Given the description of an element on the screen output the (x, y) to click on. 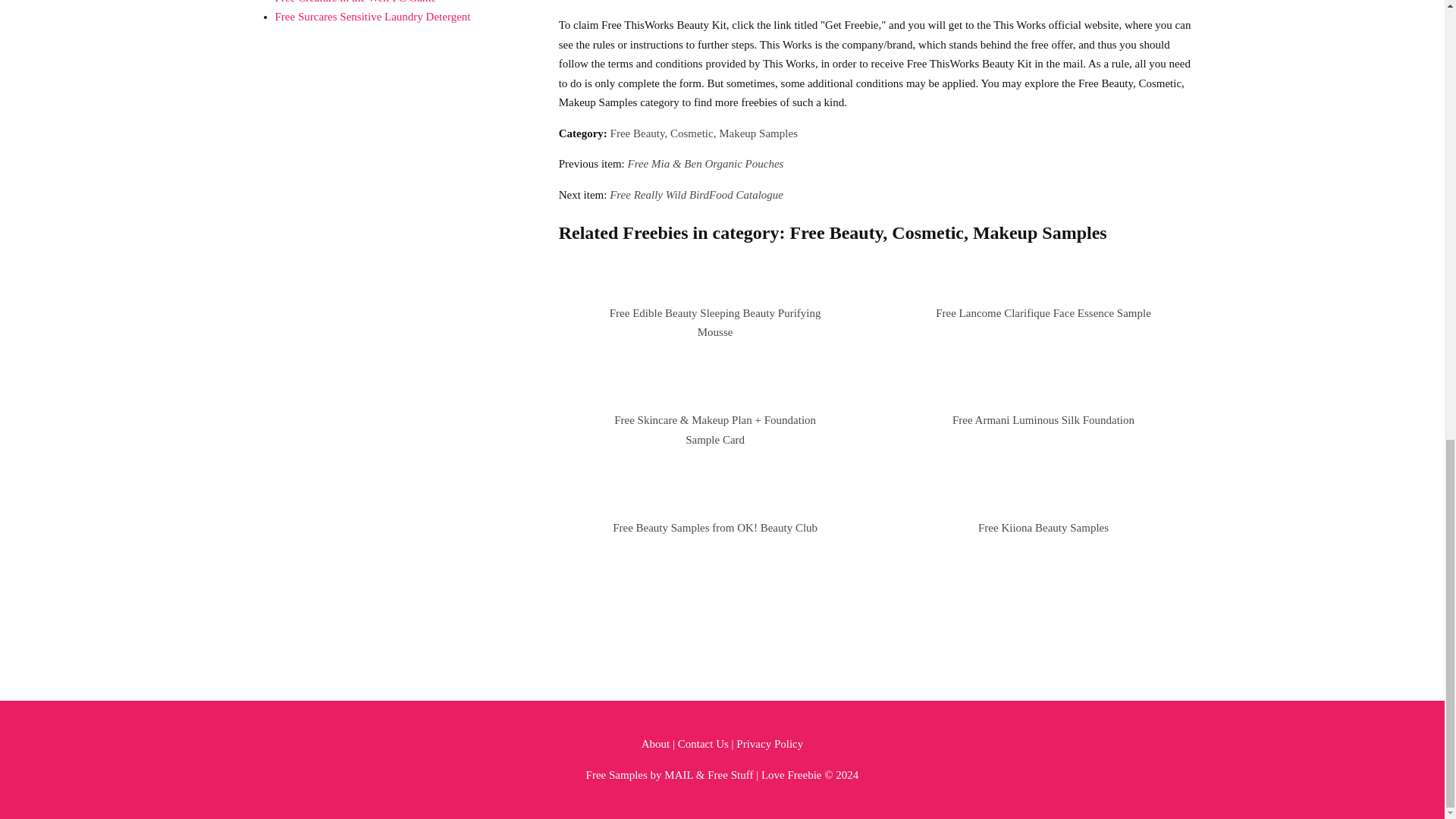
Free Beauty Samples from OK! Beauty Club (714, 527)
Free Beauty, Cosmetic, Makeup Samples (703, 133)
Free Armani Luminous Silk Foundation (1043, 419)
Free Kiiona Beauty Samples (1043, 527)
Free Lancome Clarifique Face Essence Sample (1043, 313)
Free Edible Beauty Sleeping Beauty Purifying Mousse (715, 323)
Get Freebie (585, 0)
Free Really Wild BirdFood Catalogue (696, 194)
